Given the description of an element on the screen output the (x, y) to click on. 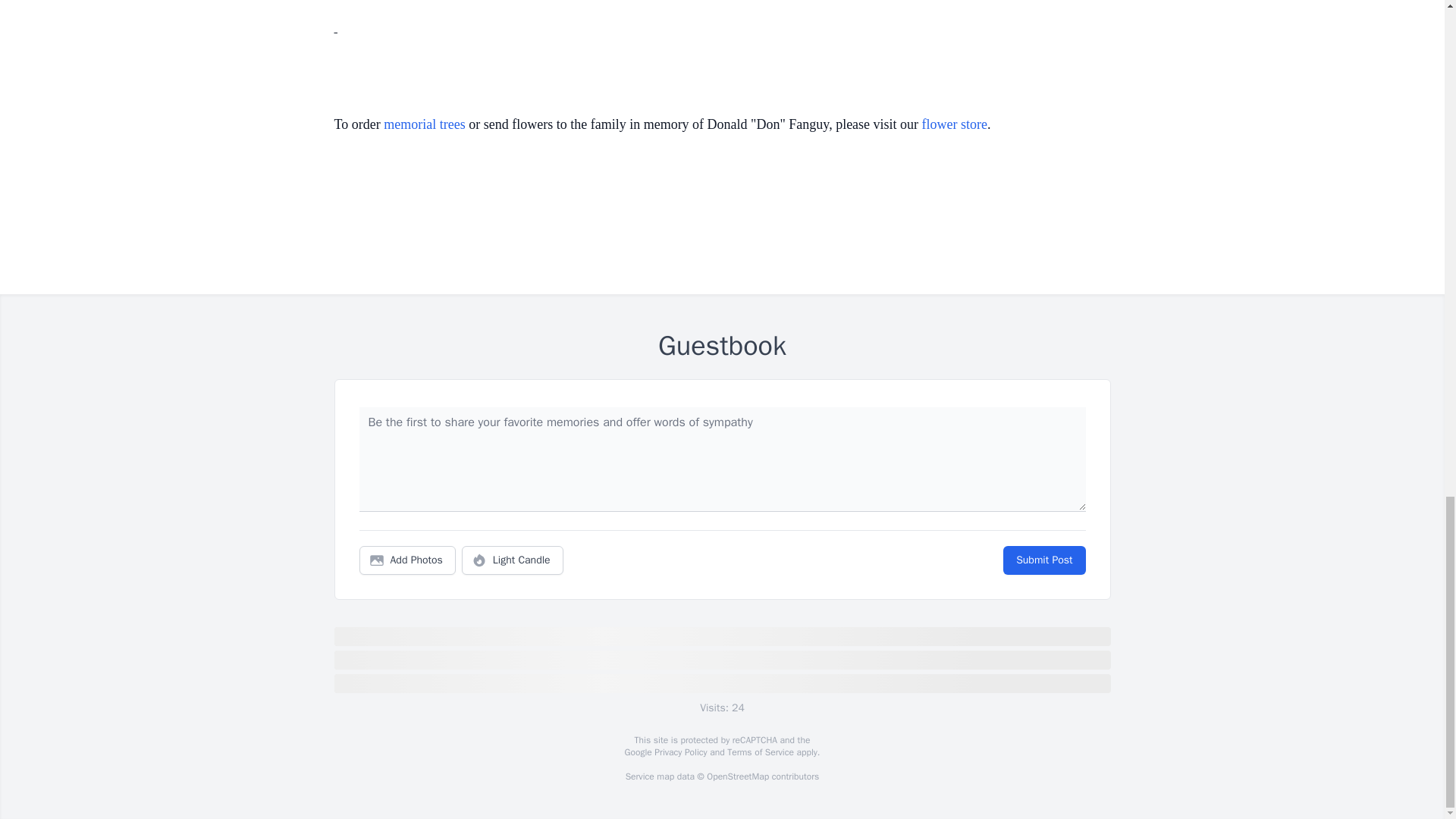
Add Photos (407, 560)
OpenStreetMap (737, 776)
flower store (954, 124)
Light Candle (512, 560)
memorial trees (424, 124)
Privacy Policy (679, 752)
Submit Post (1043, 560)
Terms of Service (759, 752)
